Given the description of an element on the screen output the (x, y) to click on. 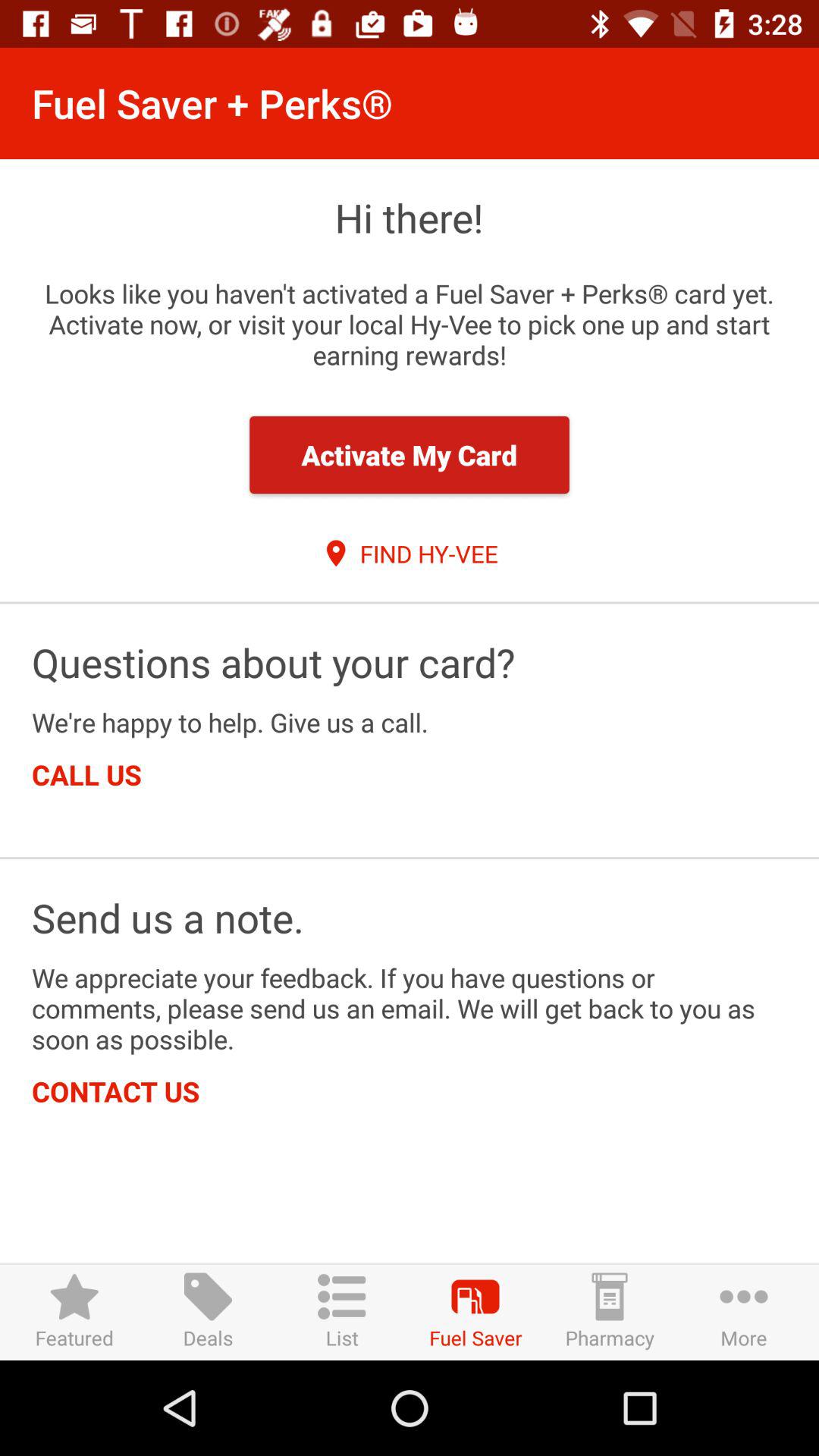
swipe until the deals icon (208, 1311)
